Given the description of an element on the screen output the (x, y) to click on. 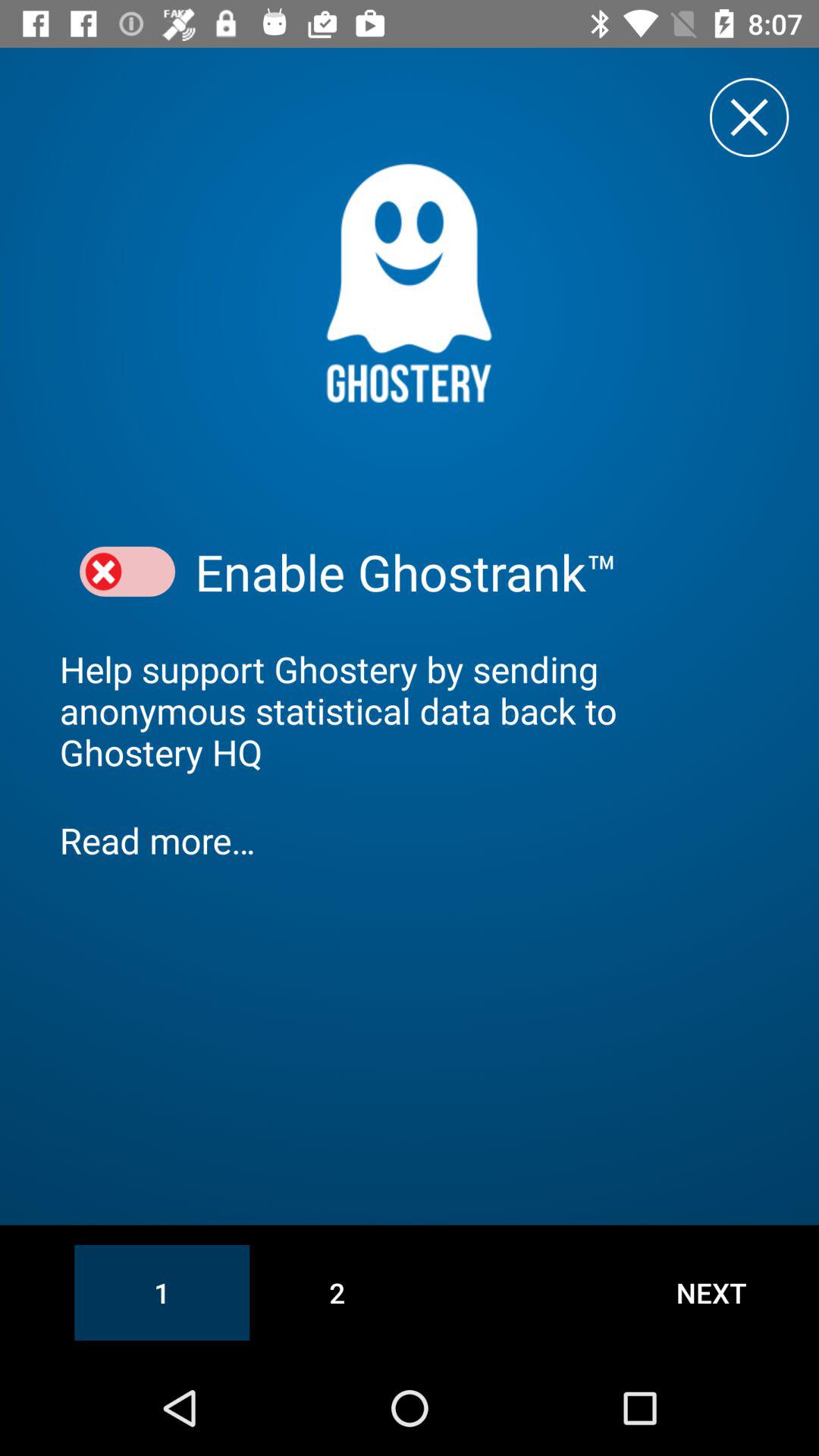
select 2 (336, 1292)
